Given the description of an element on the screen output the (x, y) to click on. 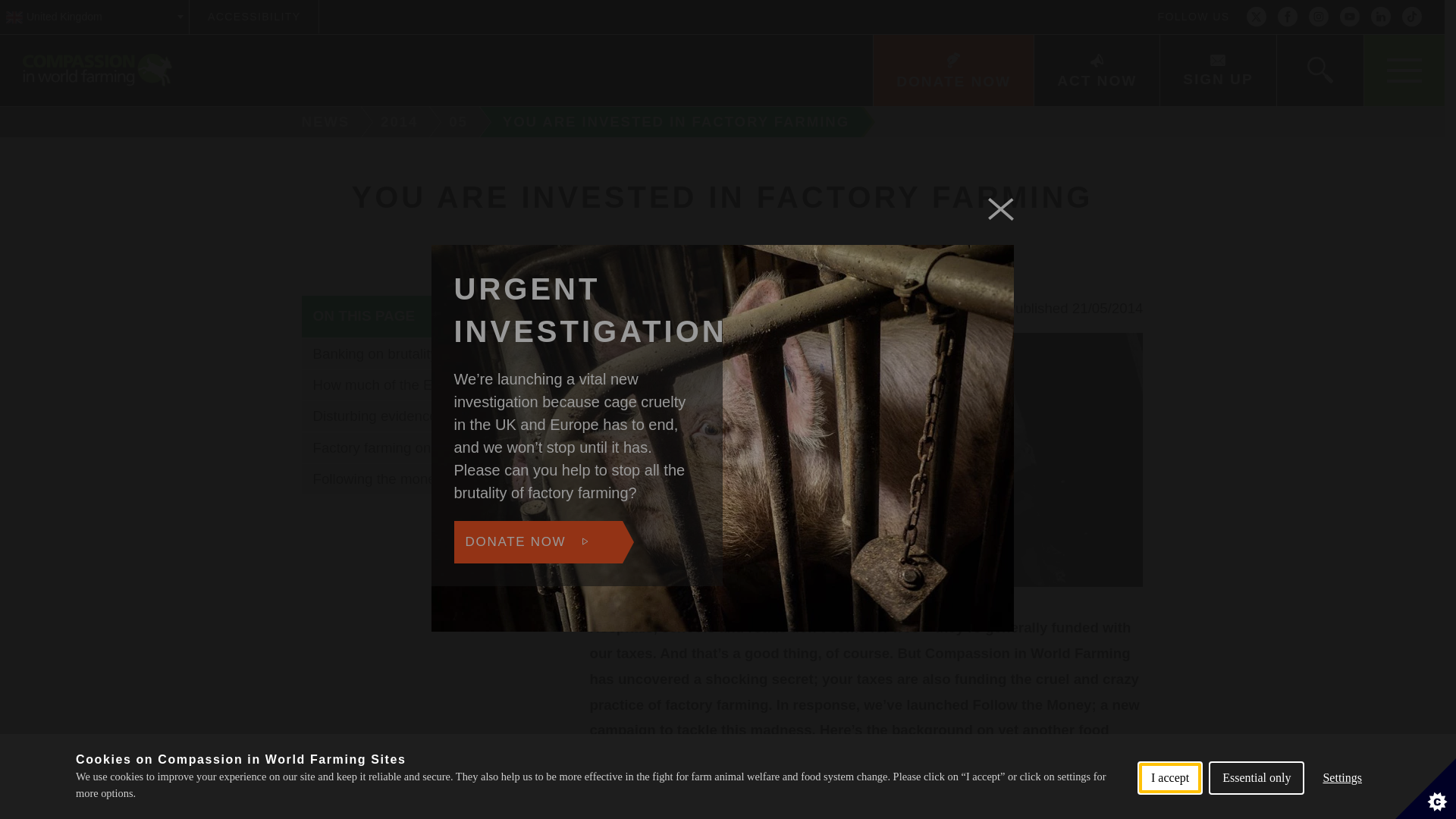
Facebook (1287, 16)
Settings (1342, 802)
ACT NOW (1095, 70)
I accept (1169, 811)
NEWS (320, 122)
2014 (401, 122)
YouTube (1350, 16)
TikTok (1412, 16)
LinkedIn (1380, 16)
Instagram (1318, 16)
SIGN UP (1216, 70)
05 (460, 122)
Essential only (1256, 808)
ACCESSIBILITY (253, 16)
United Kingdom (94, 16)
